Given the description of an element on the screen output the (x, y) to click on. 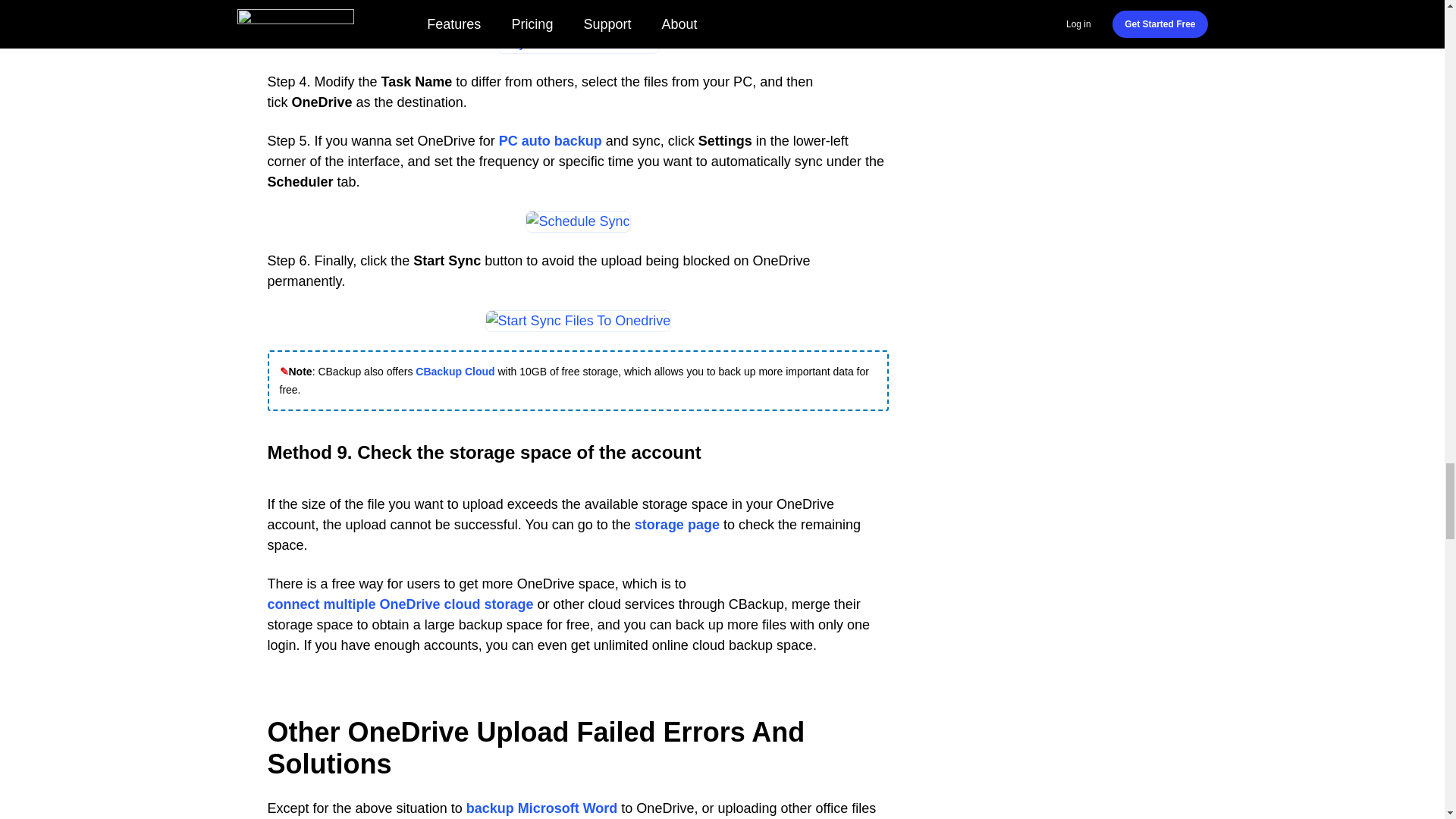
Create Task (577, 42)
Start Backup Files To Onedrive (577, 321)
Schedule Backup (577, 221)
